Given the description of an element on the screen output the (x, y) to click on. 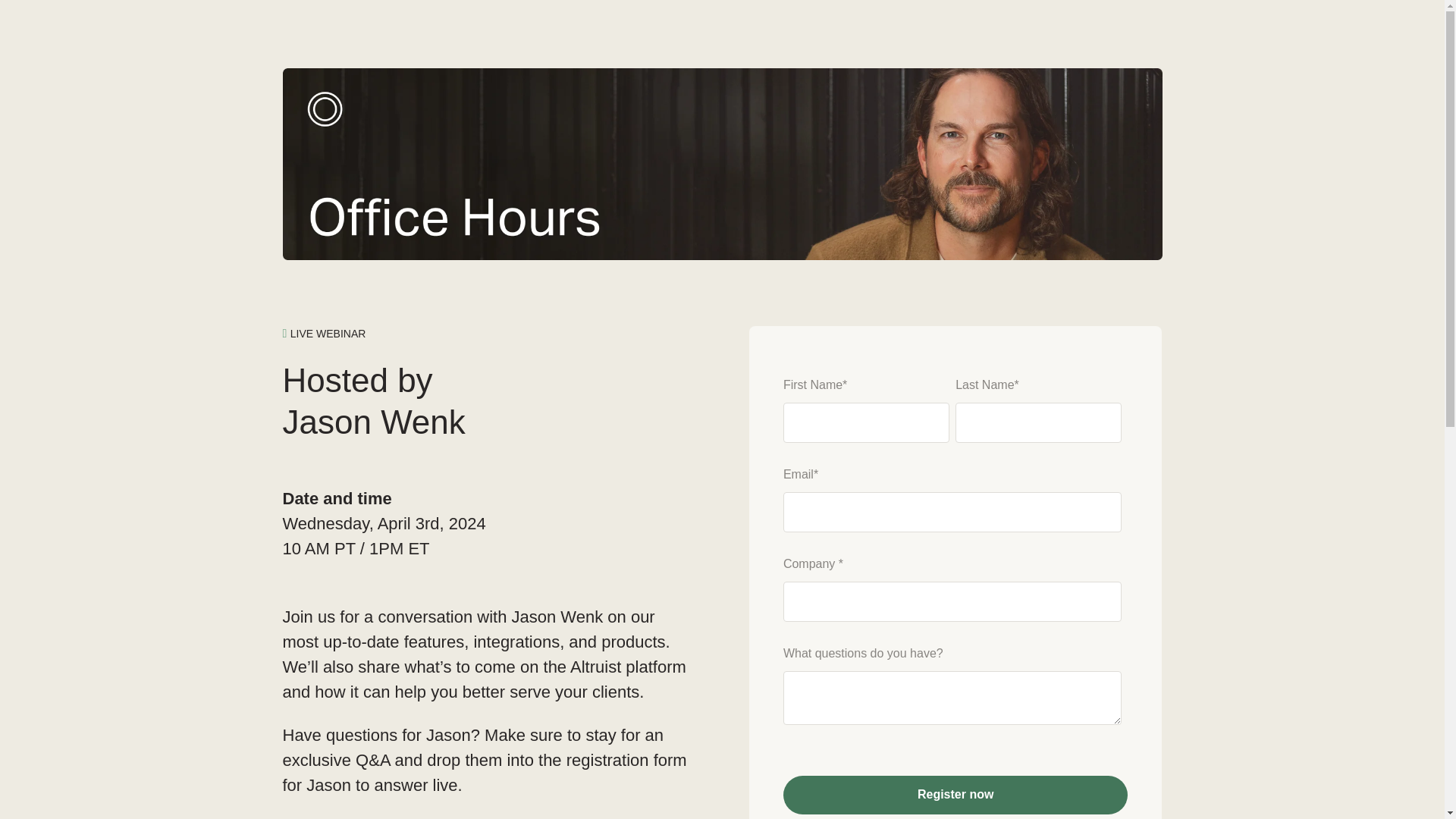
Register now (955, 794)
Register now (955, 794)
